Given the description of an element on the screen output the (x, y) to click on. 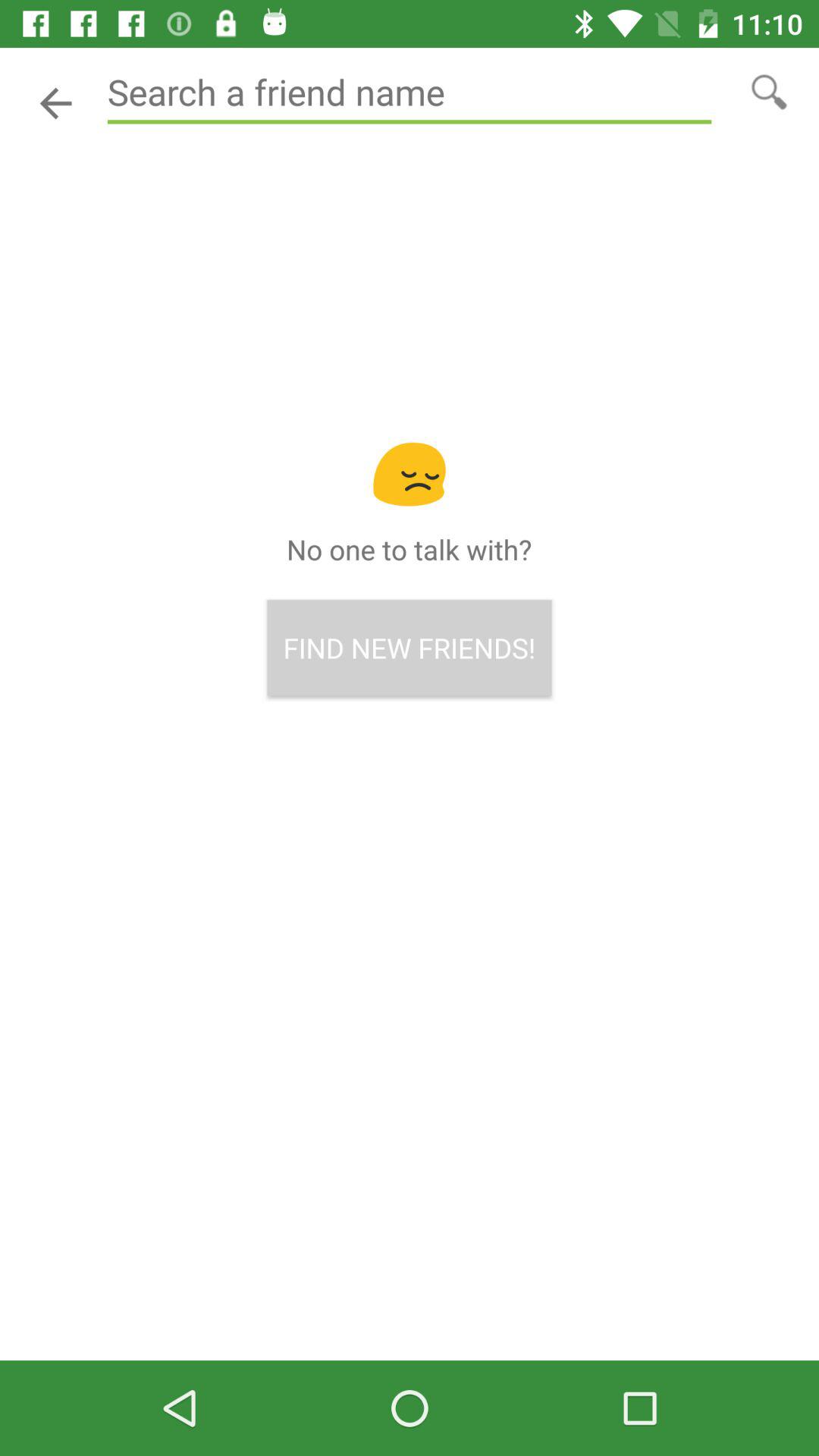
search for a name (769, 91)
